Given the description of an element on the screen output the (x, y) to click on. 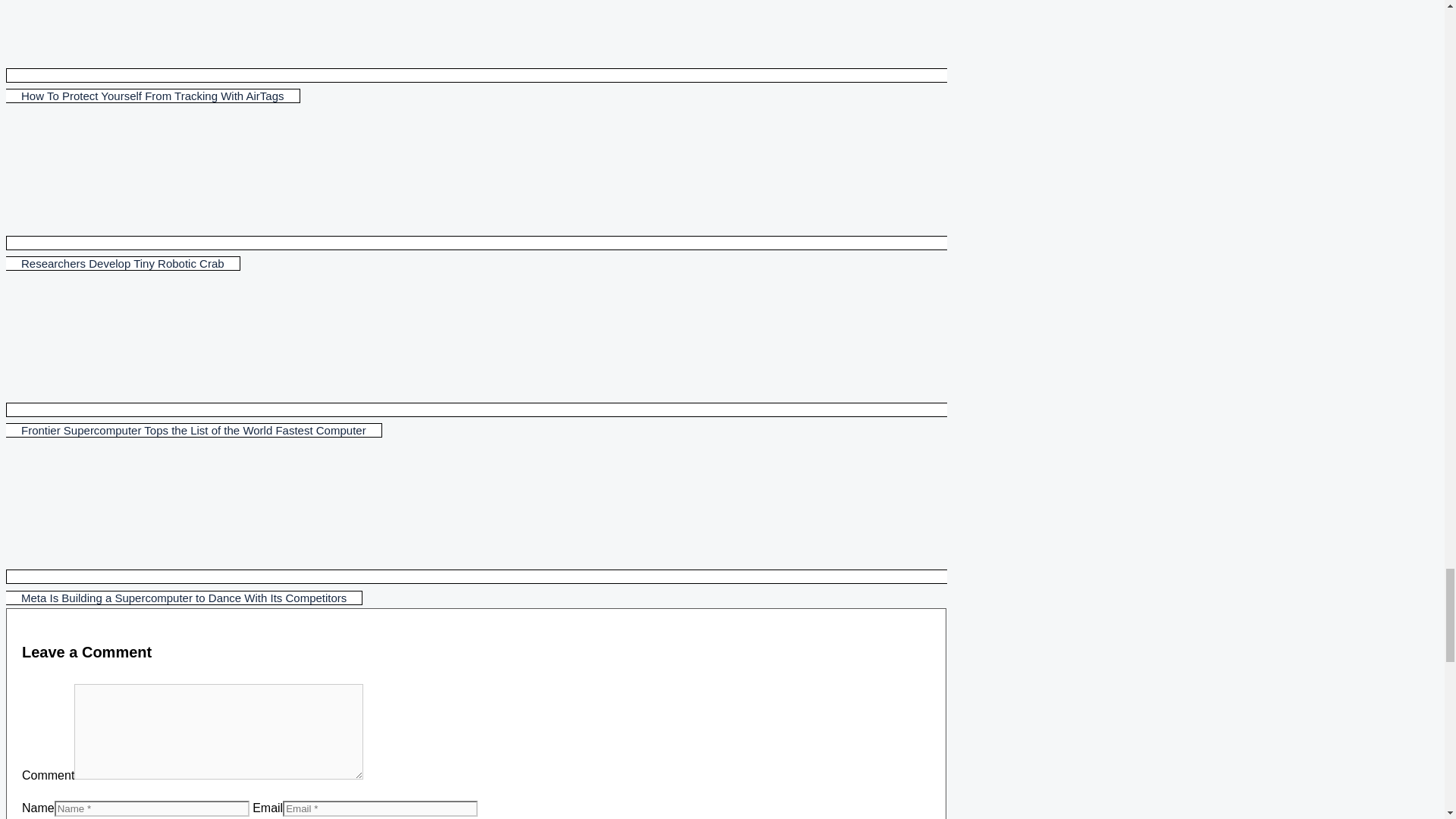
Researchers Develop Tiny Robotic Crab (476, 253)
How To Protect Yourself From Tracking With AirTags (476, 85)
